Given the description of an element on the screen output the (x, y) to click on. 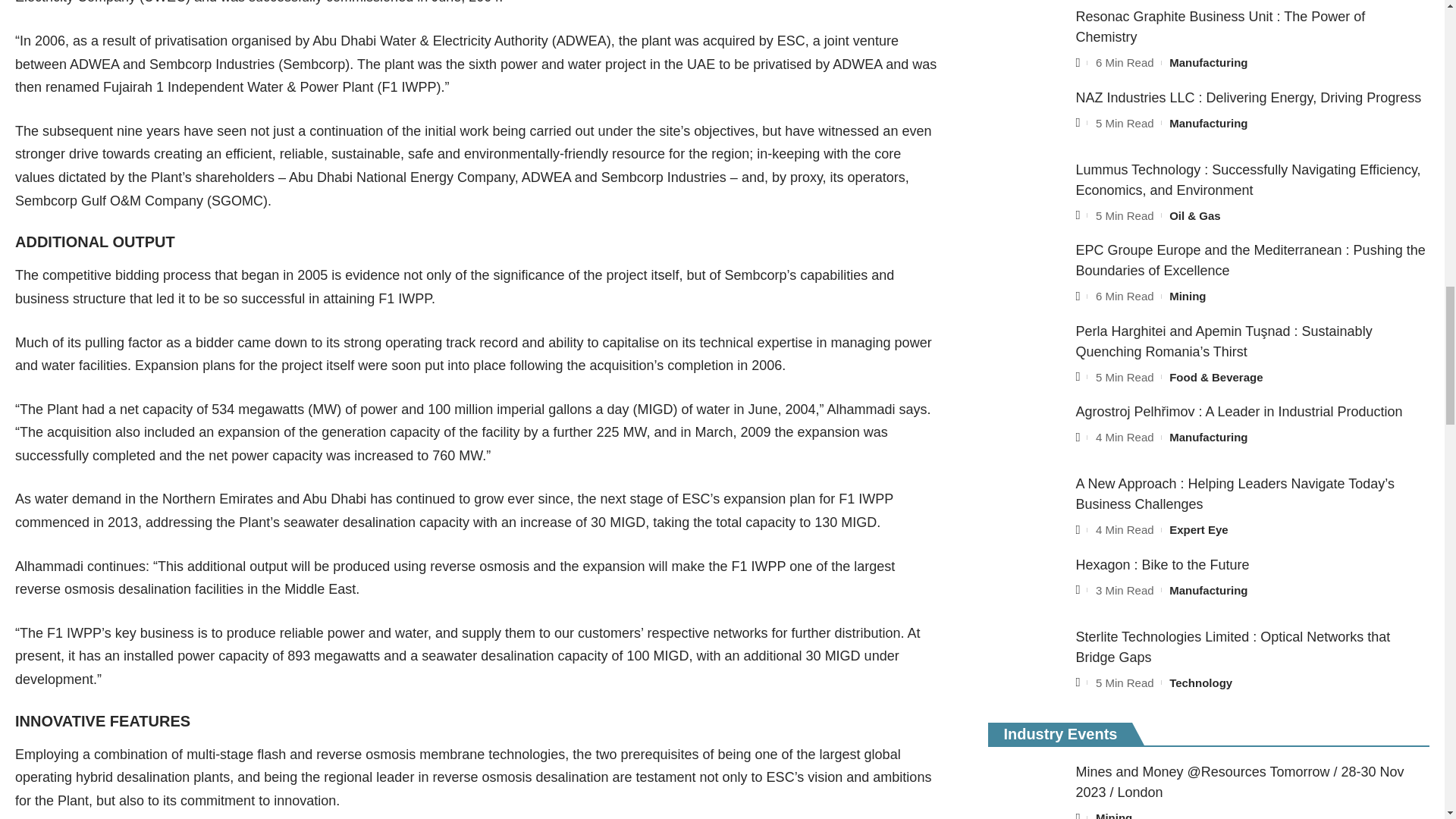
NAZ Industries LLC : Delivering Energy, Driving Progress (1026, 115)
Resonac Graphite Business Unit : The Power of Chemistry (1026, 34)
